Given the description of an element on the screen output the (x, y) to click on. 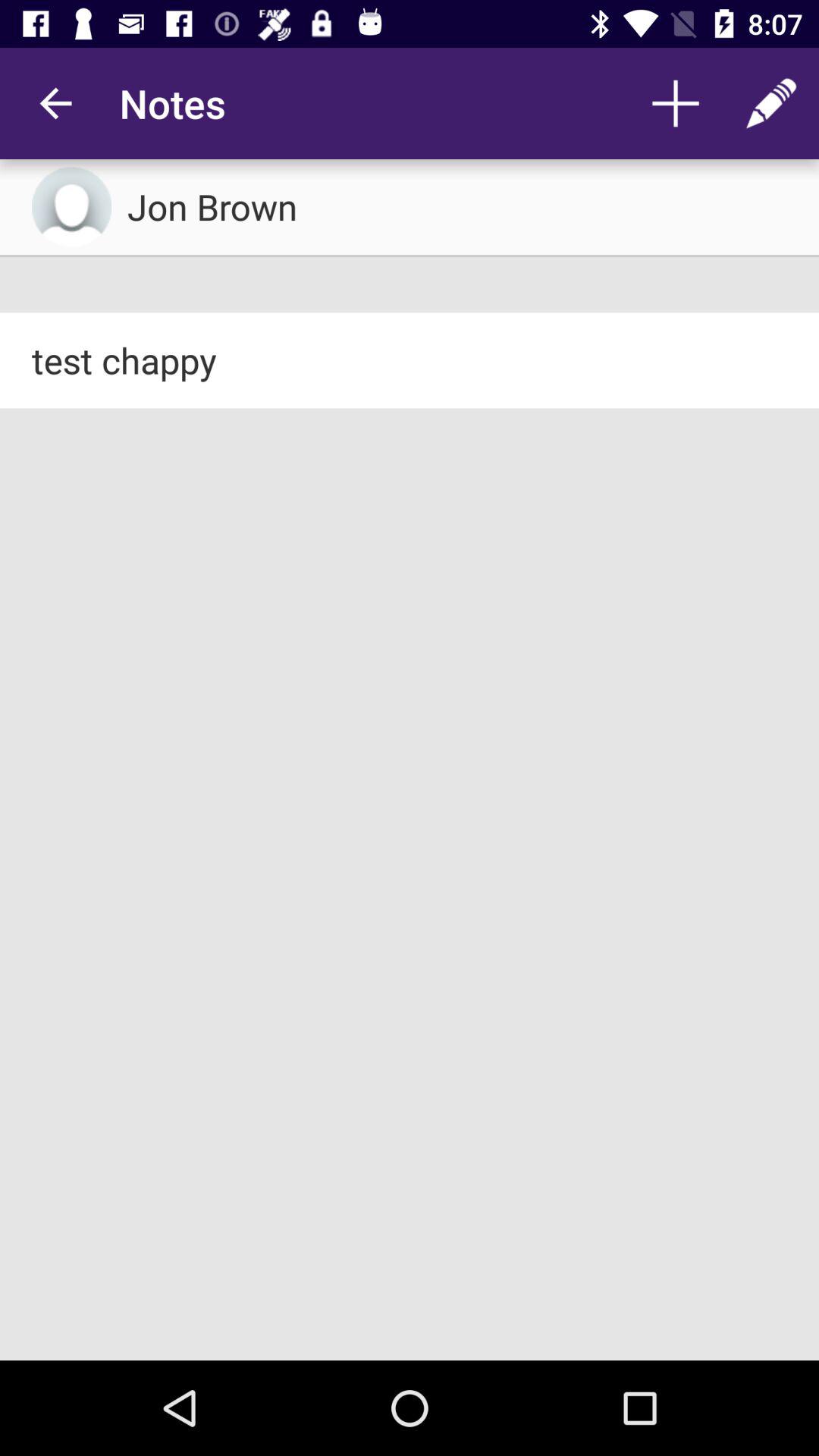
launch the app next to the notes app (675, 103)
